Given the description of an element on the screen output the (x, y) to click on. 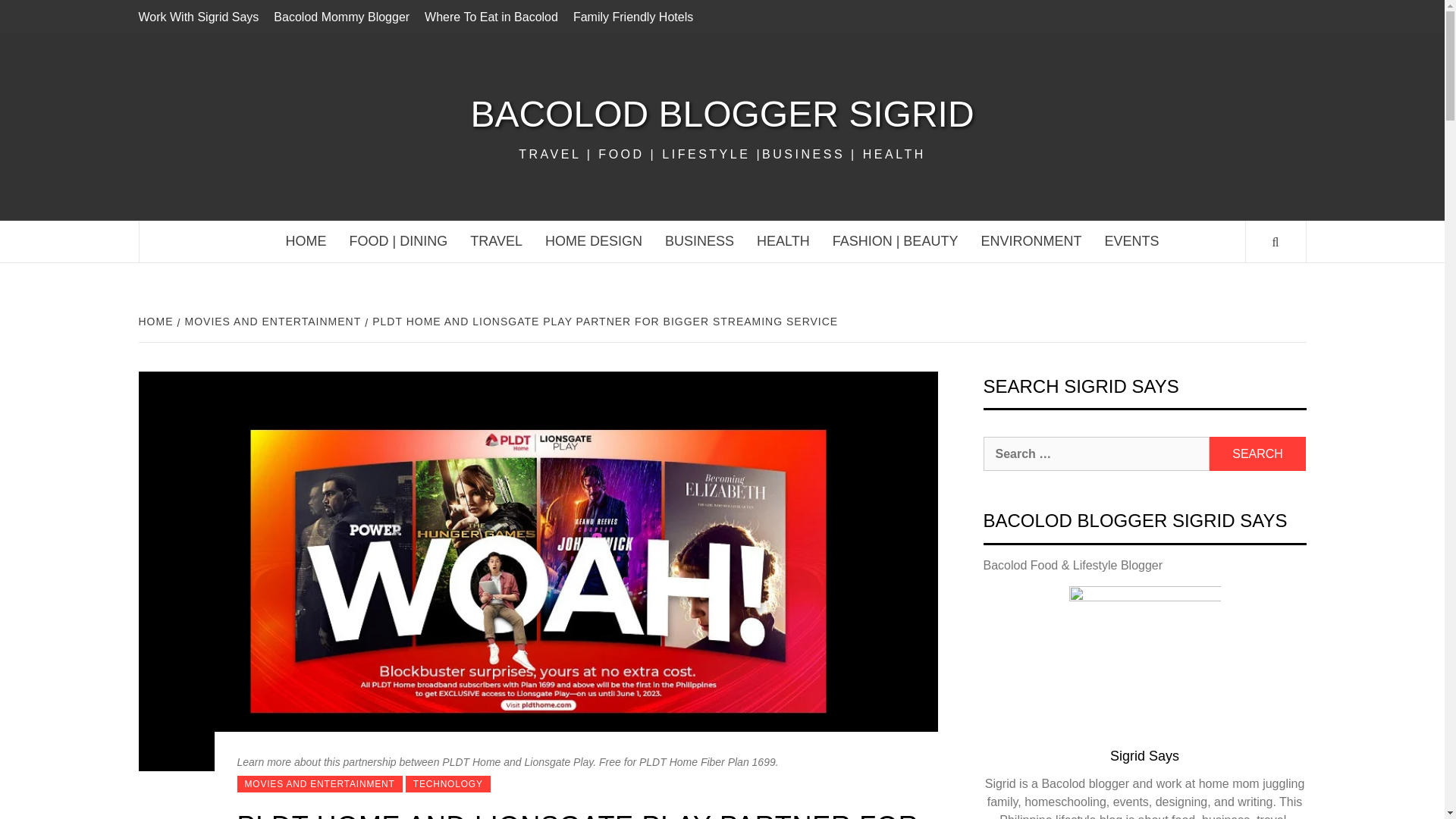
Family Friendly Hotels (633, 17)
MOVIES AND ENTERTAINMENT (318, 783)
Where To Eat in Bacolod (491, 17)
HOME (157, 321)
BUSINESS (699, 241)
Work With Sigrid Says (202, 17)
Search (1257, 453)
TRAVEL (496, 241)
ENVIRONMENT (1031, 241)
